Given the description of an element on the screen output the (x, y) to click on. 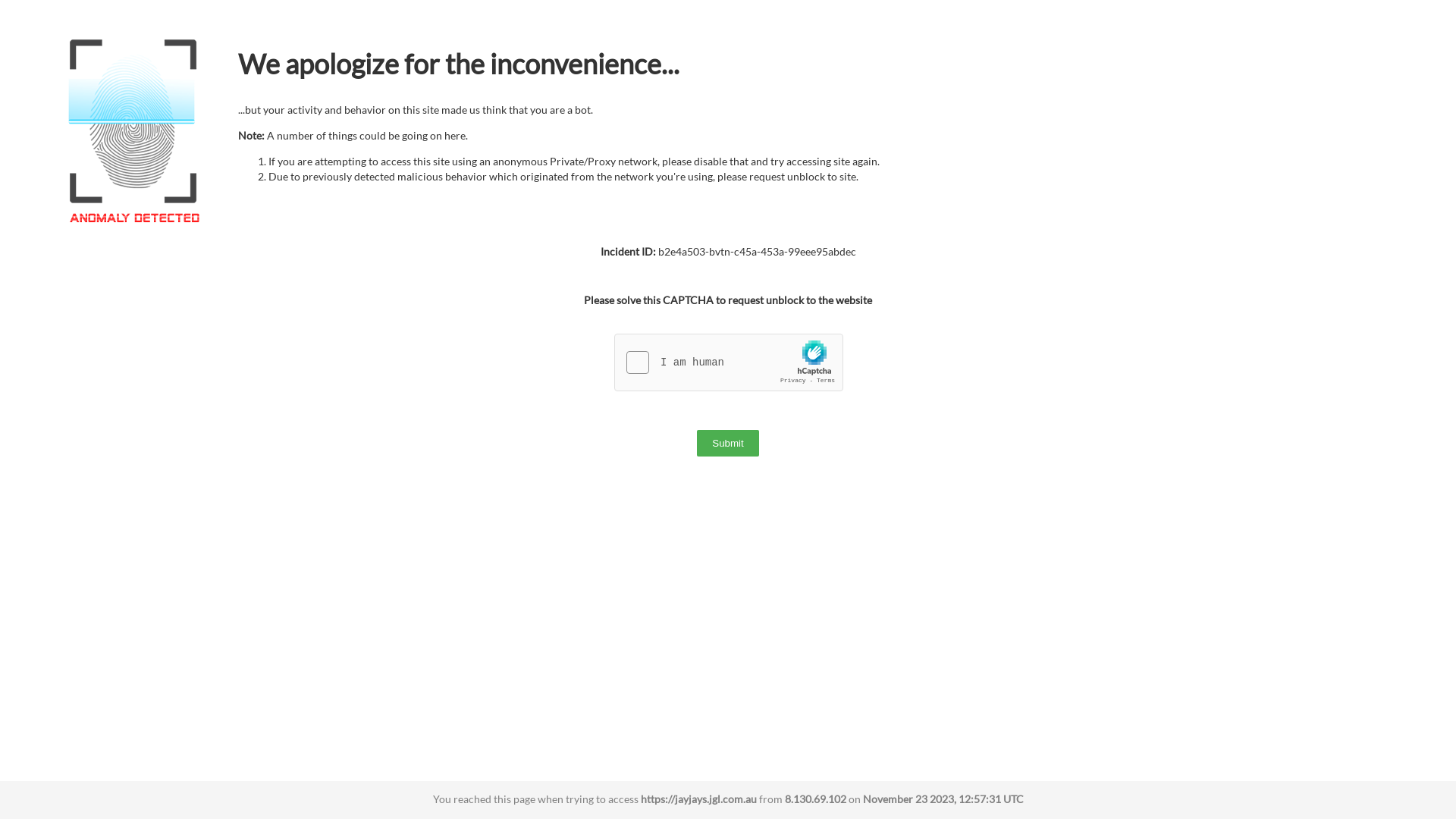
Widget containing checkbox for hCaptcha security challenge Element type: hover (729, 362)
Submit Element type: text (727, 442)
